Given the description of an element on the screen output the (x, y) to click on. 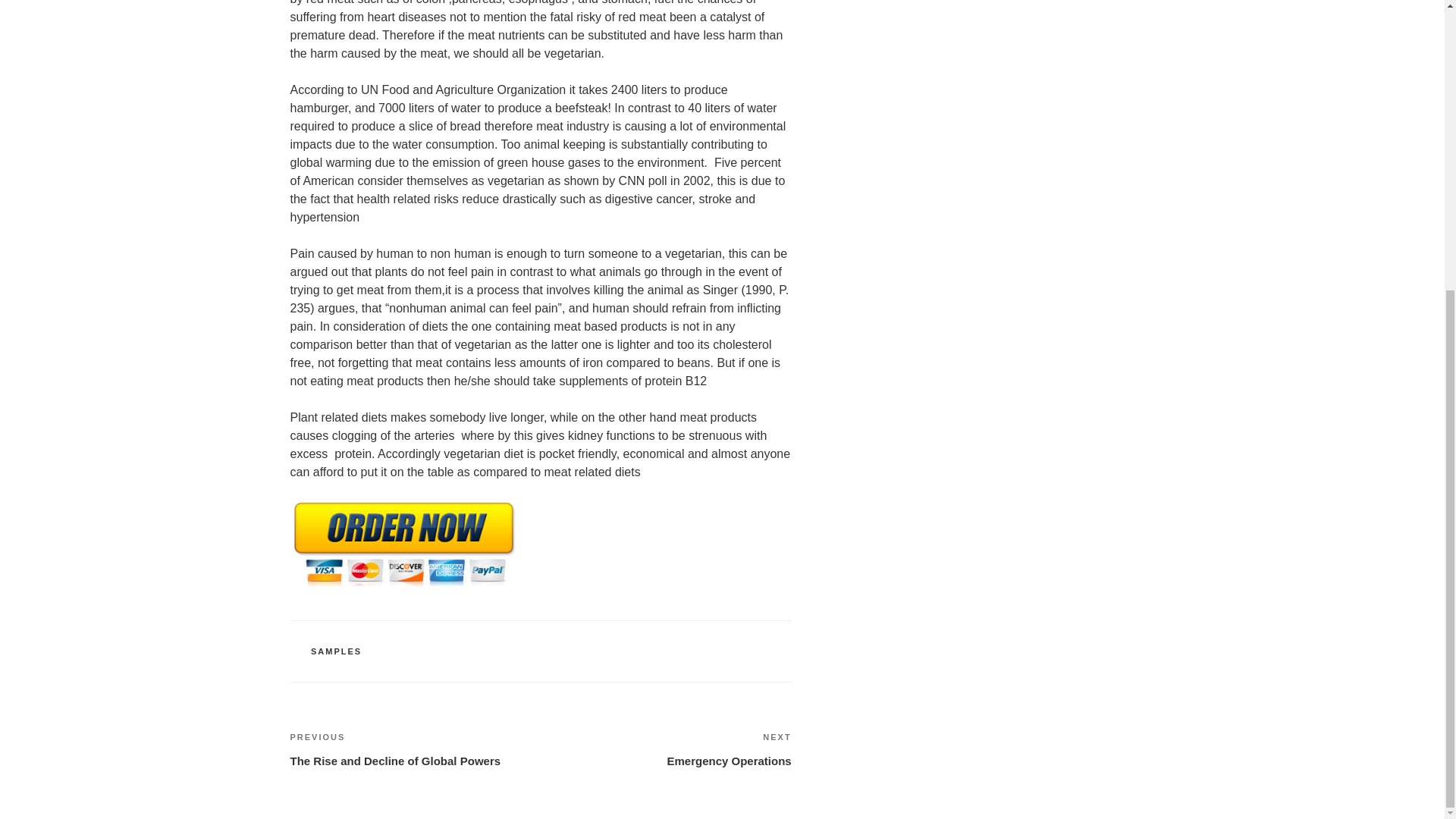
Click to Order (402, 585)
SAMPLES (666, 749)
